Given the description of an element on the screen output the (x, y) to click on. 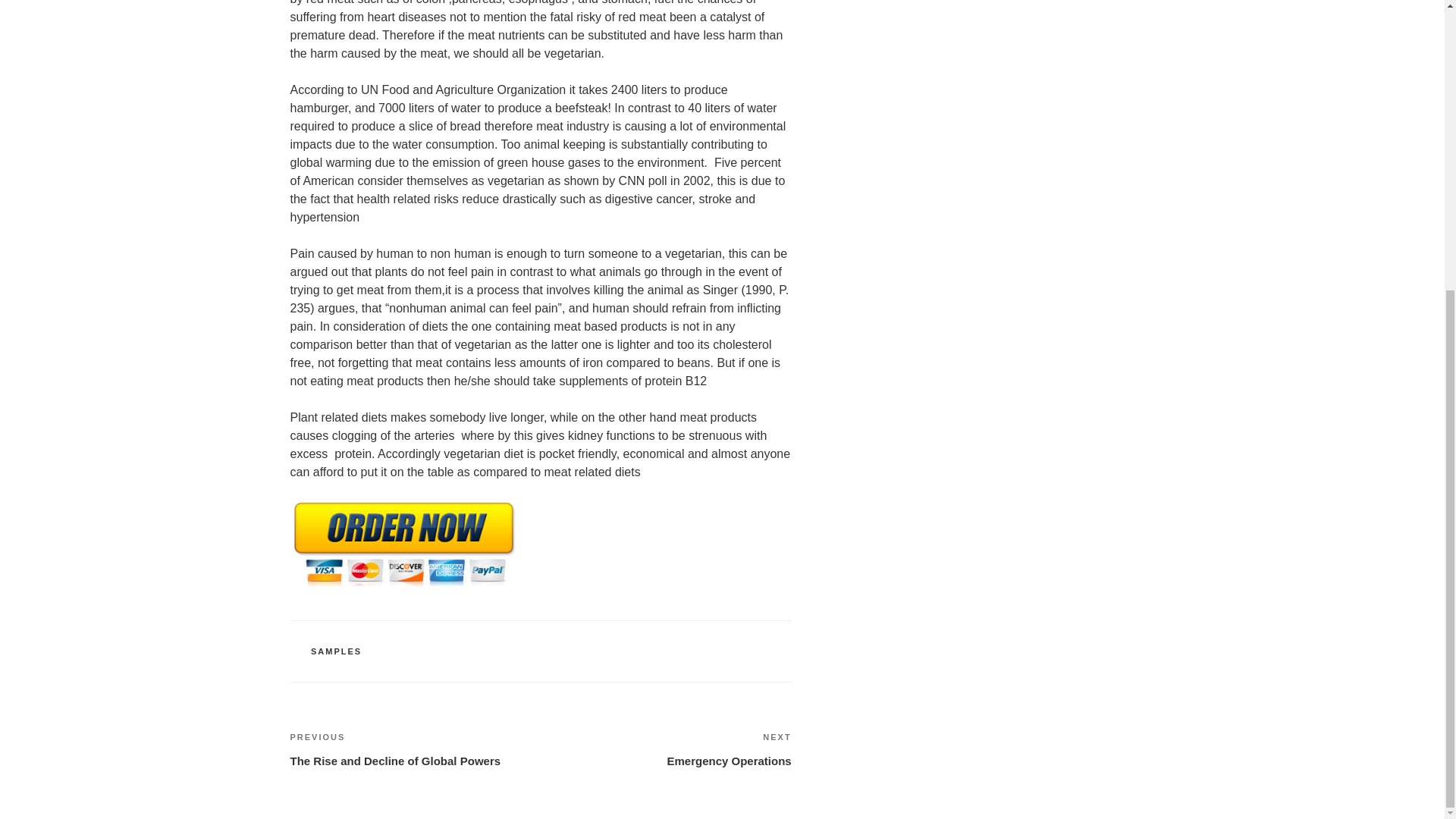
Click to Order (402, 585)
SAMPLES (666, 749)
